Given the description of an element on the screen output the (x, y) to click on. 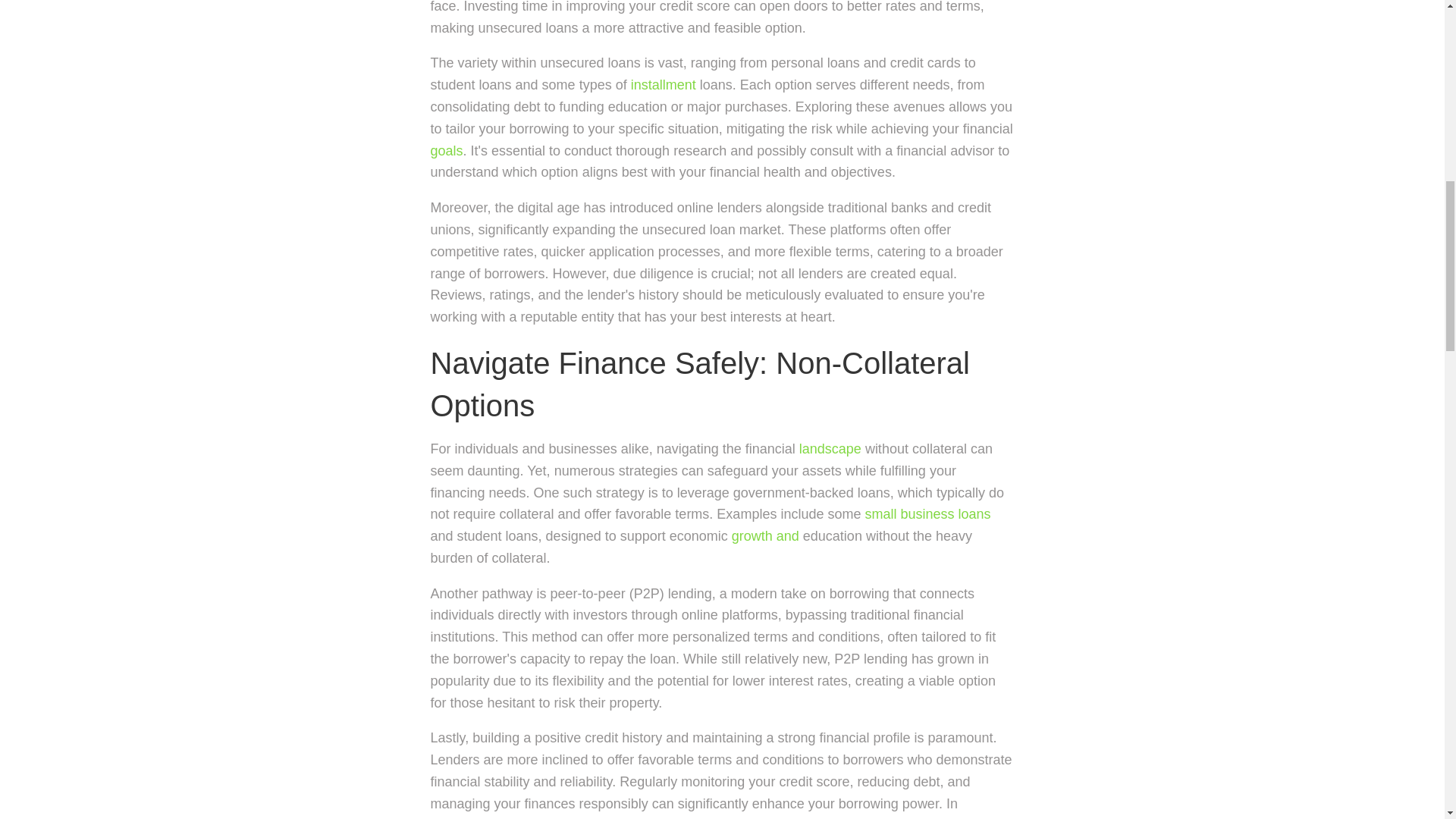
Posts tagged with landscape (830, 448)
Posts tagged with goals (446, 150)
Posts tagged with small business loans (927, 513)
Posts tagged with growth and (765, 535)
Posts tagged with installment (662, 84)
